Given the description of an element on the screen output the (x, y) to click on. 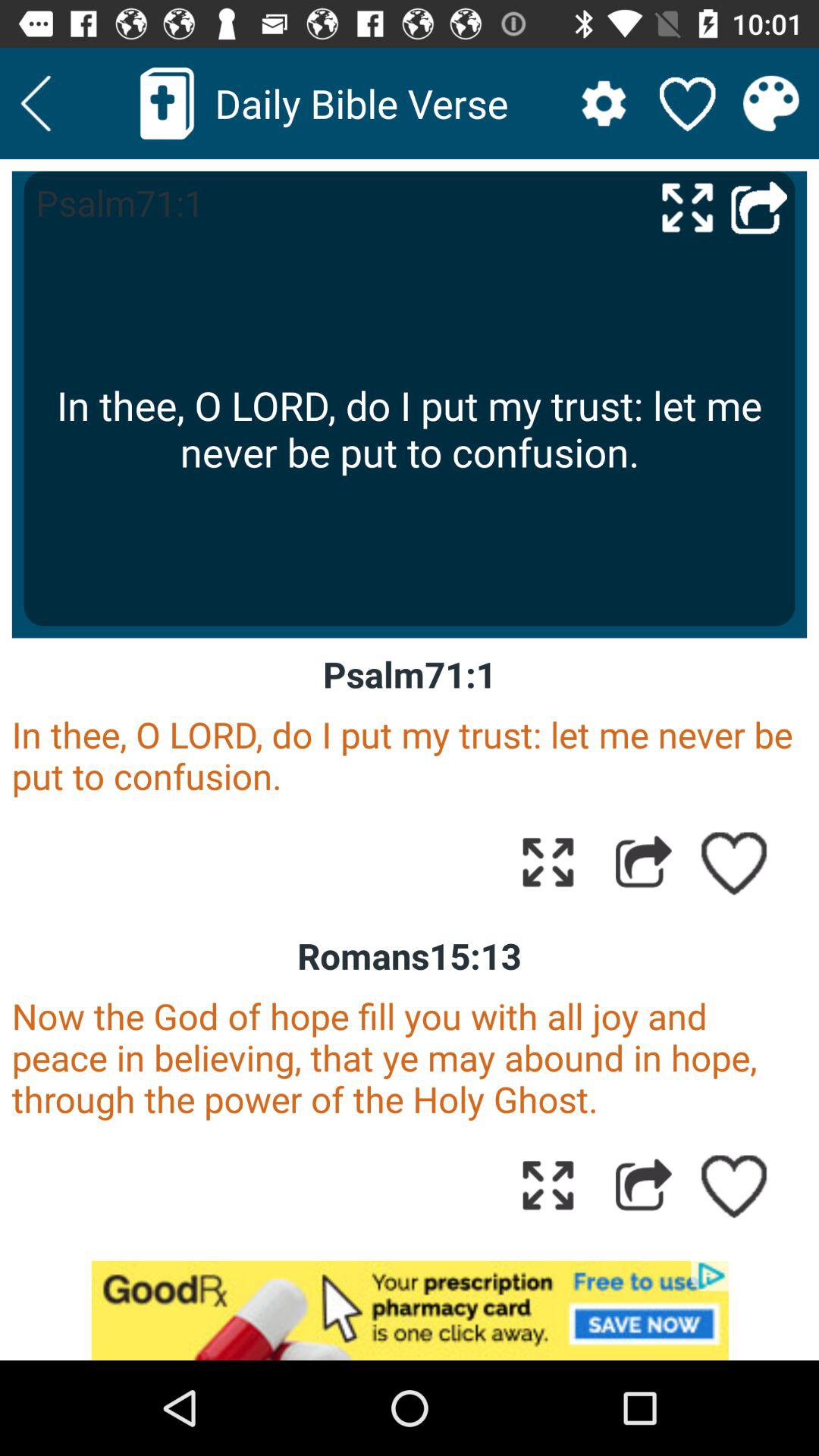
expand (548, 861)
